Given the description of an element on the screen output the (x, y) to click on. 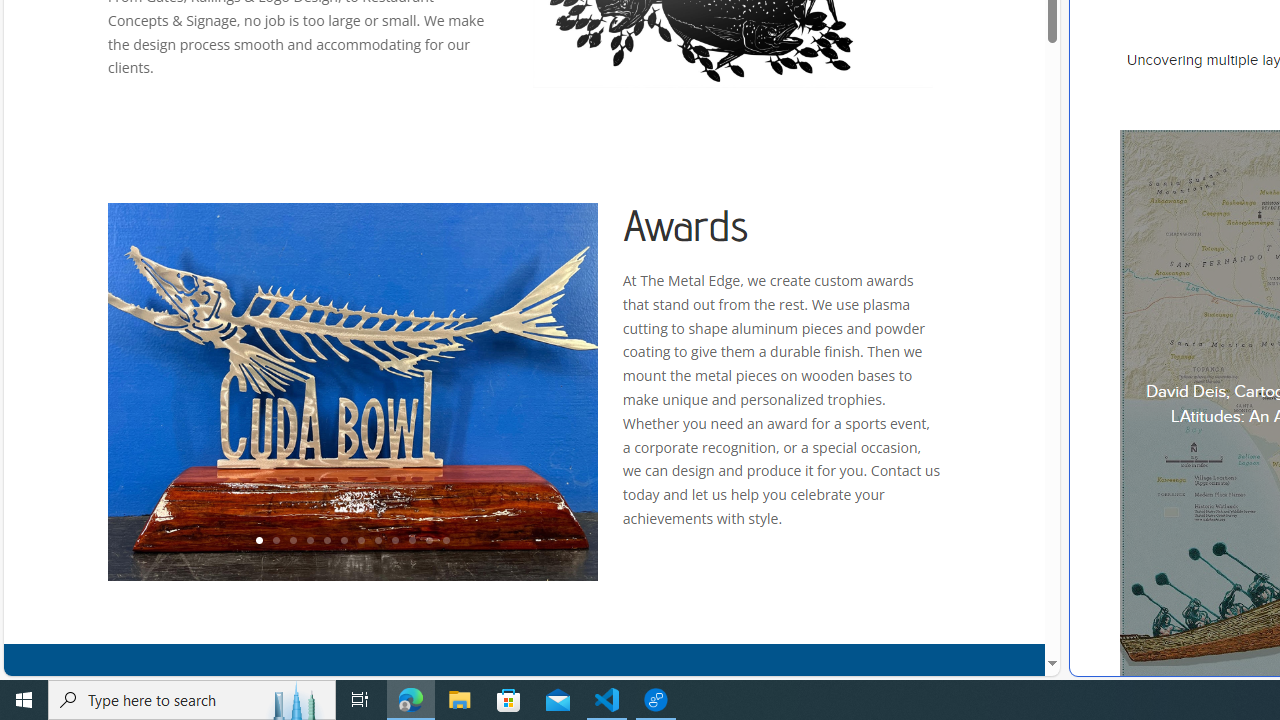
4 (309, 541)
1 (258, 541)
11 (428, 541)
3 (292, 541)
7 (360, 541)
9 (394, 541)
2 (275, 541)
12 (445, 541)
8 (377, 541)
10 (412, 541)
5 (326, 541)
6 (344, 541)
